Given the description of an element on the screen output the (x, y) to click on. 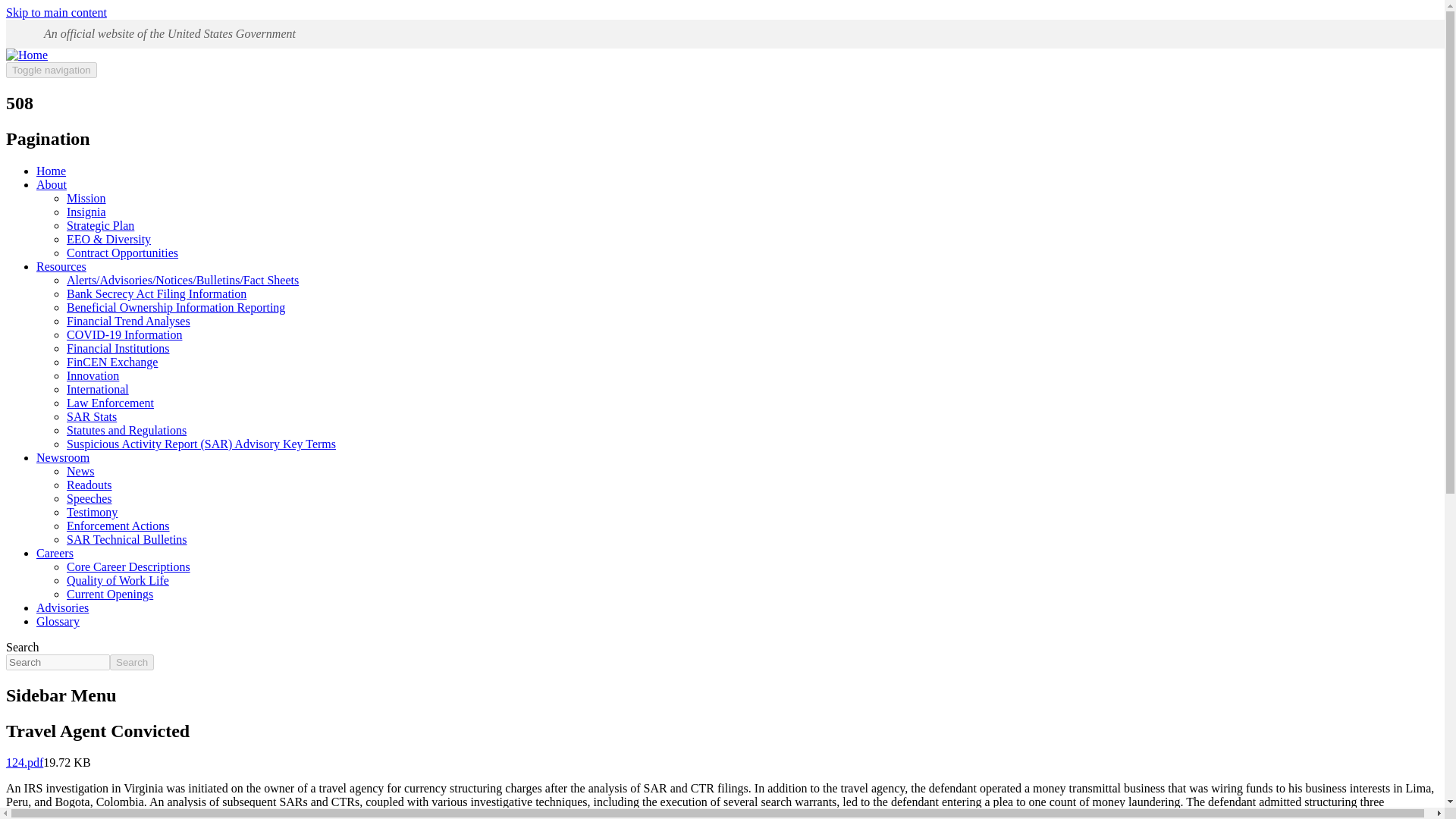
Readouts (89, 484)
Strategic Plan (99, 225)
Beneficial Ownership Information Reporting (175, 307)
Current Openings (109, 594)
Glossary (58, 621)
Filing Information (156, 293)
Enforcement Actions (118, 525)
Quality of Work Life (117, 580)
FinCEN's Innovation Page (92, 375)
Contract Opportunities (121, 252)
Insignia (86, 211)
Careers (55, 553)
SAR Analytics (91, 416)
Financial Trend Analyses (128, 320)
Bank Secrecy Act Filing Information (156, 293)
